Given the description of an element on the screen output the (x, y) to click on. 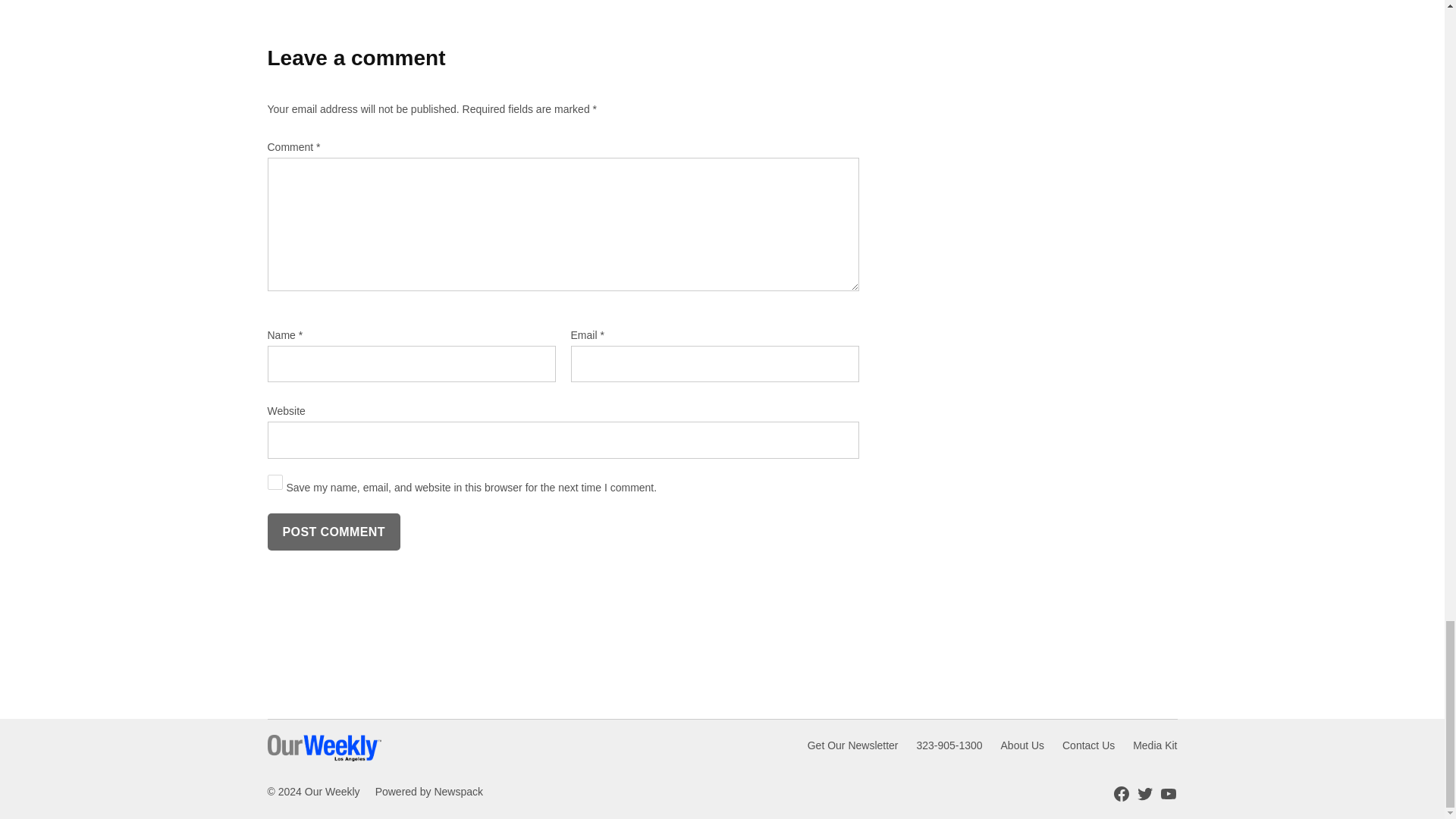
yes (274, 482)
Post Comment (332, 532)
